Given the description of an element on the screen output the (x, y) to click on. 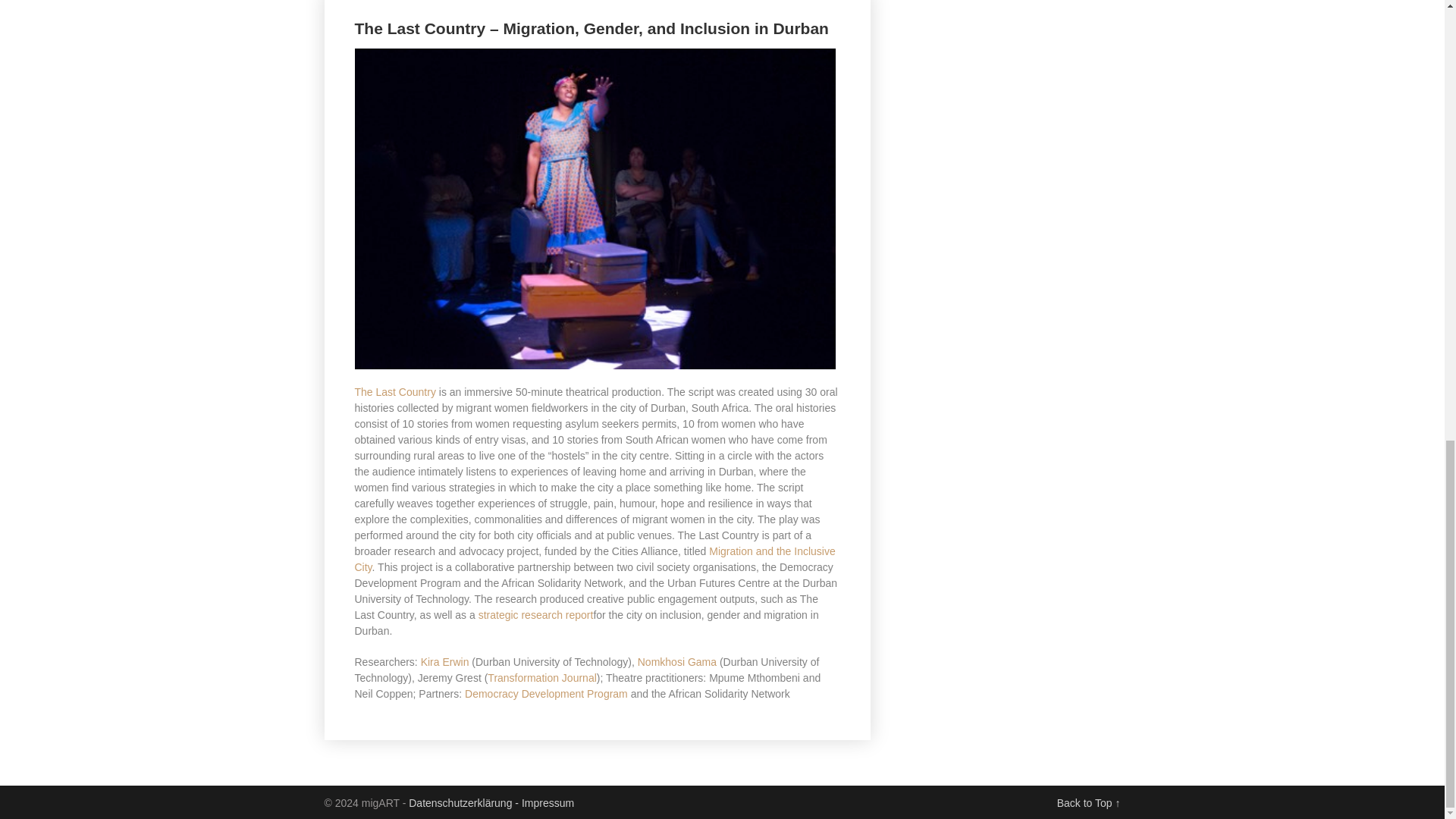
Democracy Development Program (545, 693)
Kira Erwin (444, 662)
Migration and the Inclusive City (595, 559)
Transformation Journal (541, 677)
strategic research report (536, 614)
Nomkhosi Gama (676, 662)
The Last Country (395, 391)
